Given the description of an element on the screen output the (x, y) to click on. 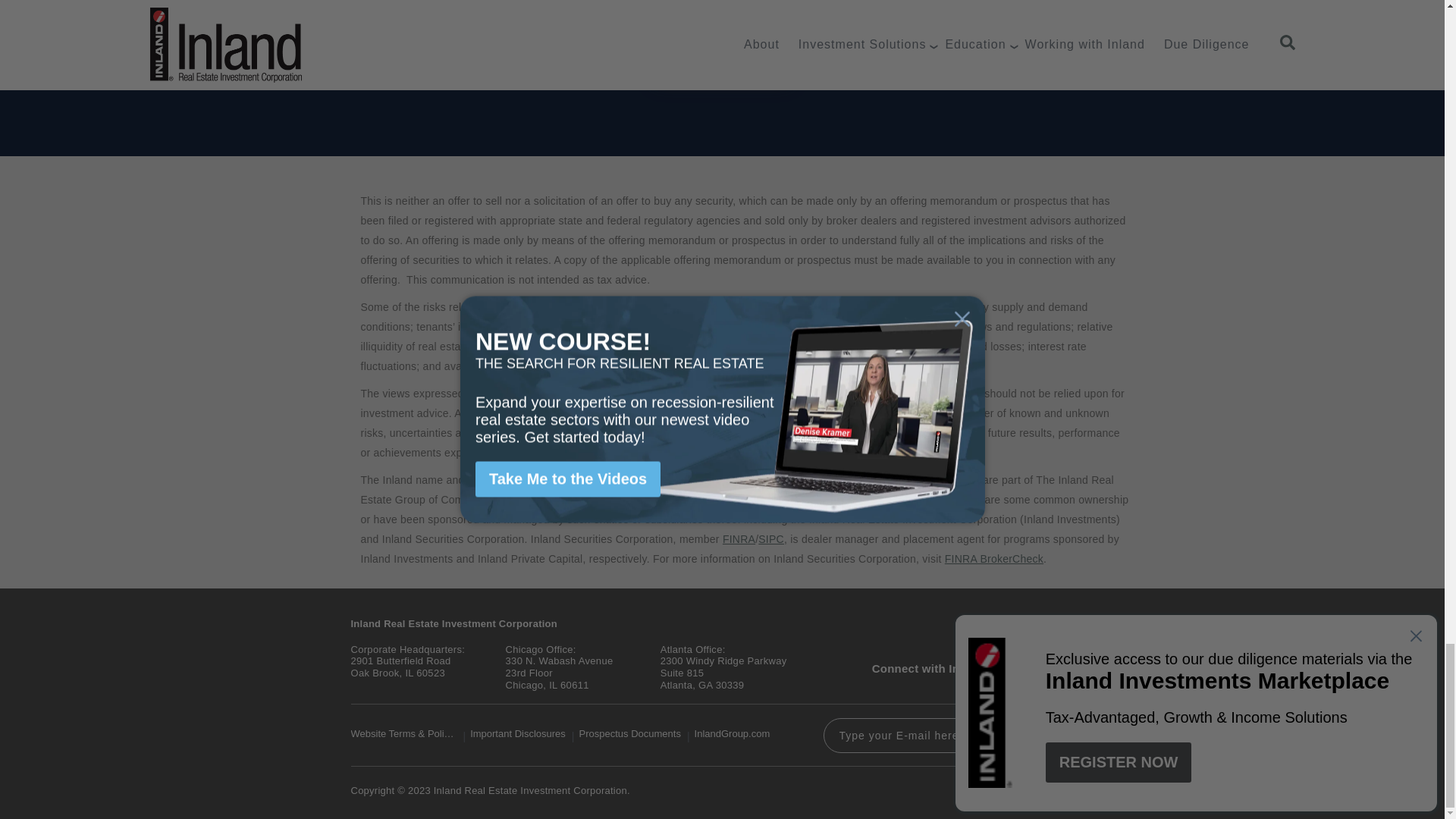
Subscribe (1039, 735)
Subscribe (721, 61)
